Given the description of an element on the screen output the (x, y) to click on. 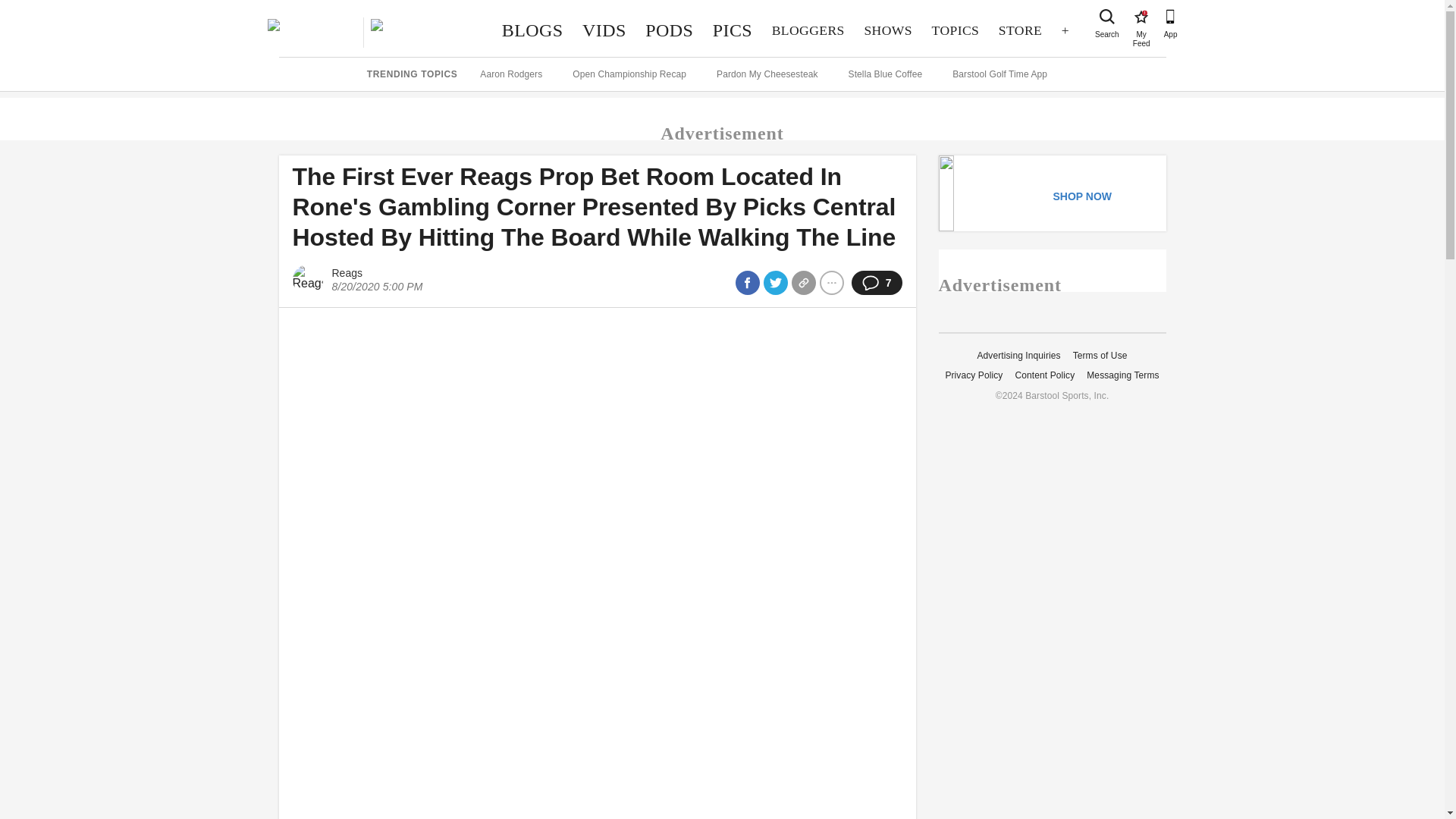
PICS (732, 30)
TOPICS (954, 30)
BLOGGERS (807, 30)
VIDS (603, 30)
Search (1107, 16)
PODS (668, 30)
BLOGS (532, 30)
SHOWS (887, 30)
STORE (1141, 16)
